Given the description of an element on the screen output the (x, y) to click on. 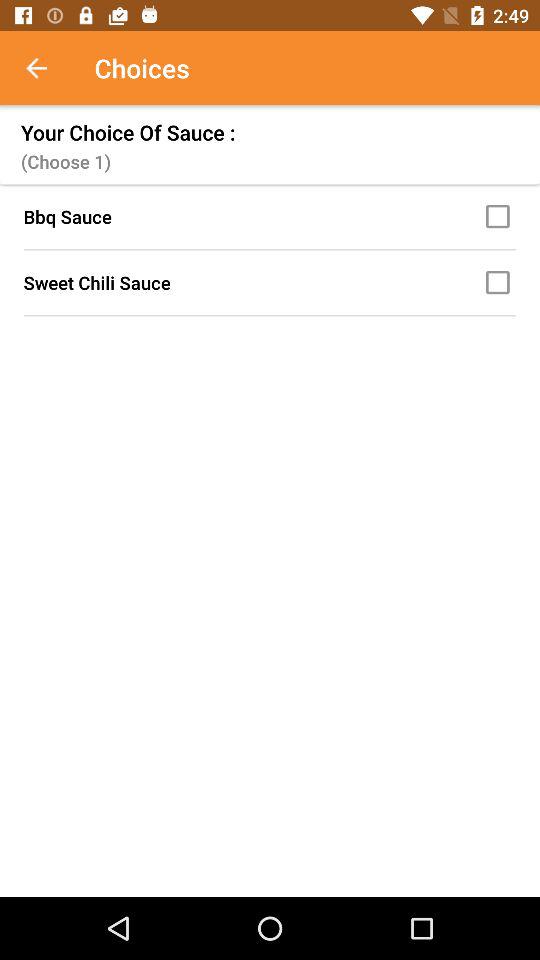
turn on the item to the left of choices icon (47, 68)
